Given the description of an element on the screen output the (x, y) to click on. 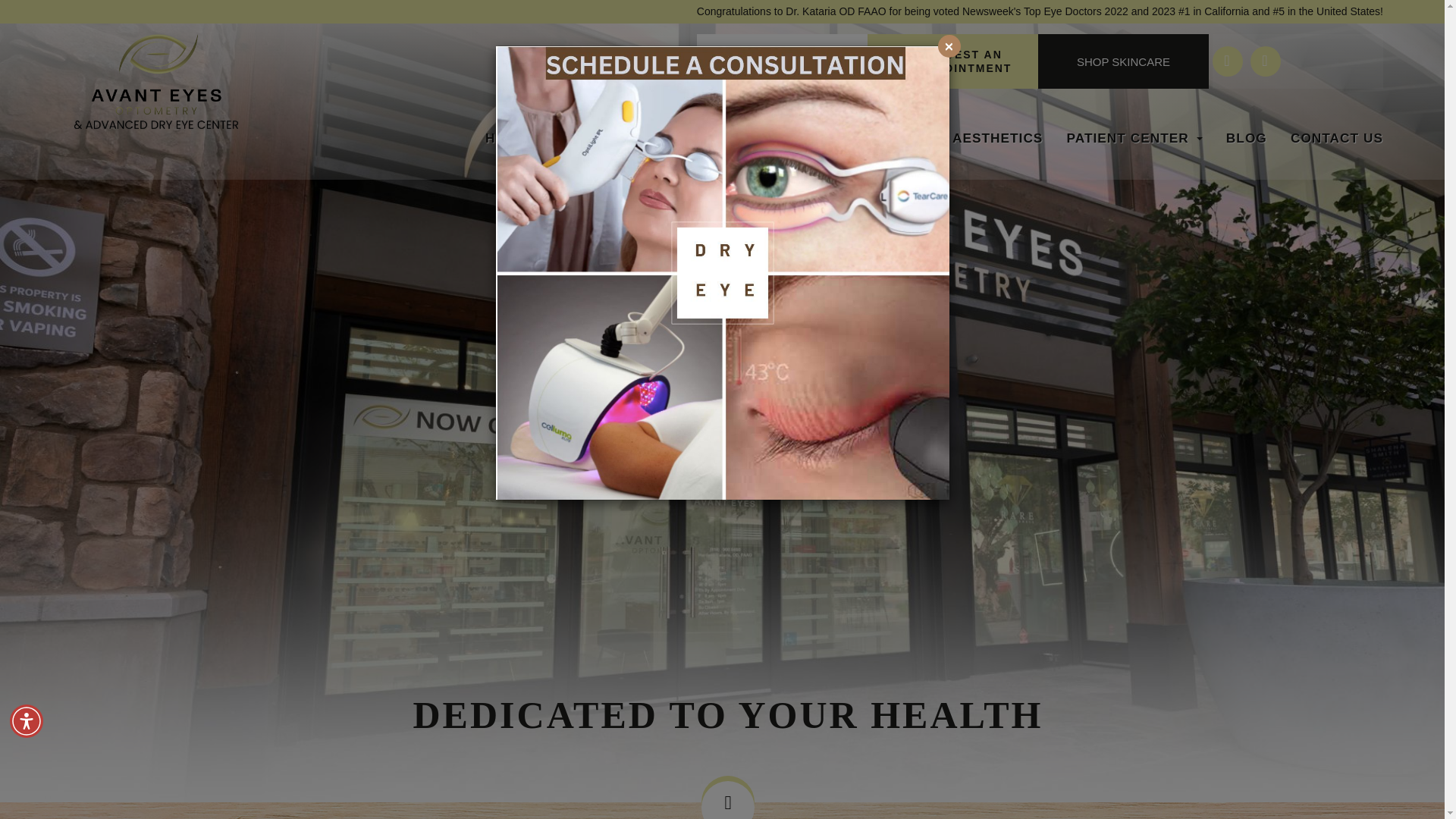
Accessibility Menu (26, 720)
